Given the description of an element on the screen output the (x, y) to click on. 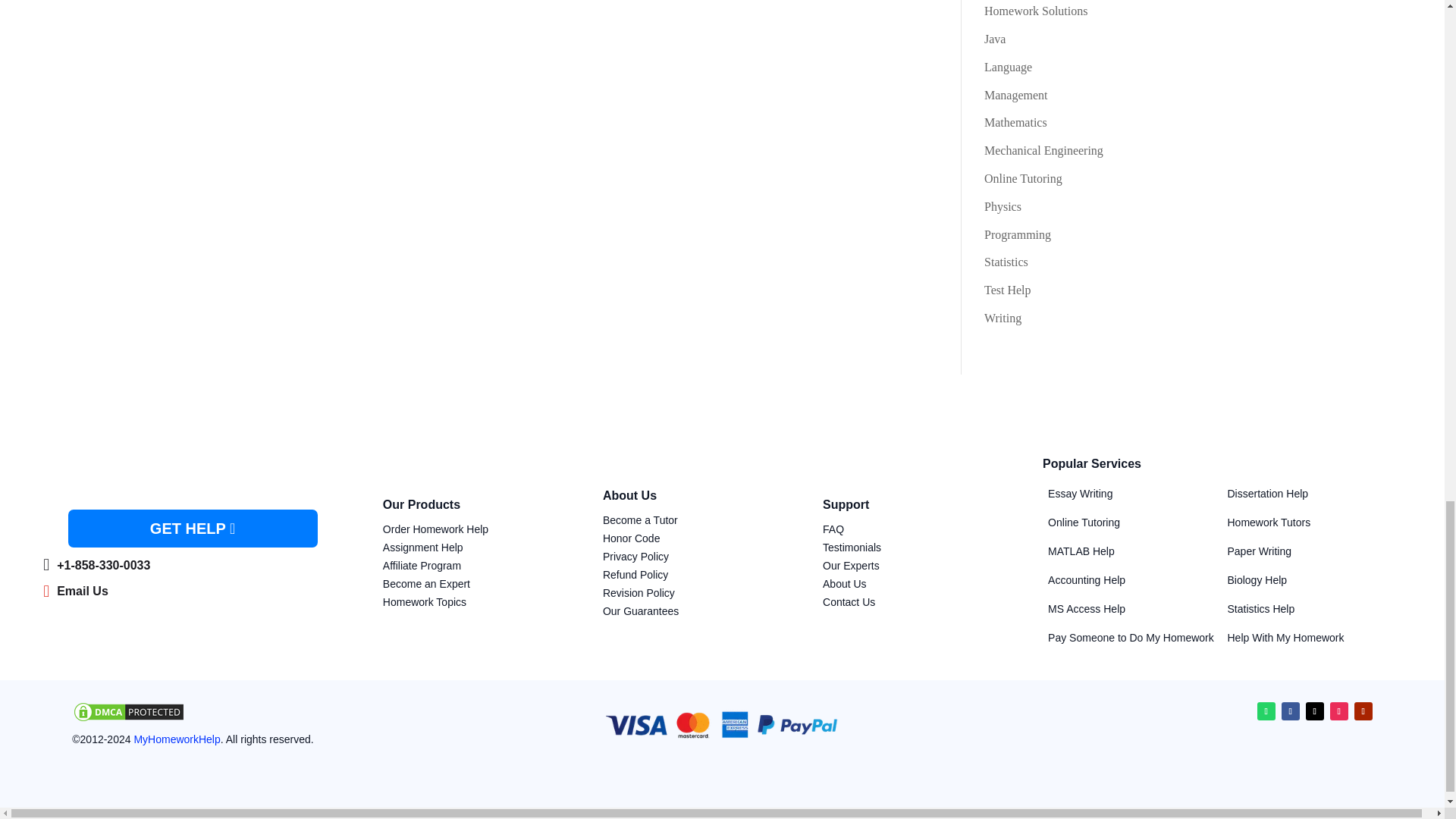
Follow on Instagram (1339, 710)
Follow on Facebook (1290, 710)
FAQ (833, 529)
DMCA.com Protection Status (128, 718)
Follow on Youtube (1363, 710)
Follow on X (1314, 710)
Follow on WhatsApp (1266, 710)
